Given the description of an element on the screen output the (x, y) to click on. 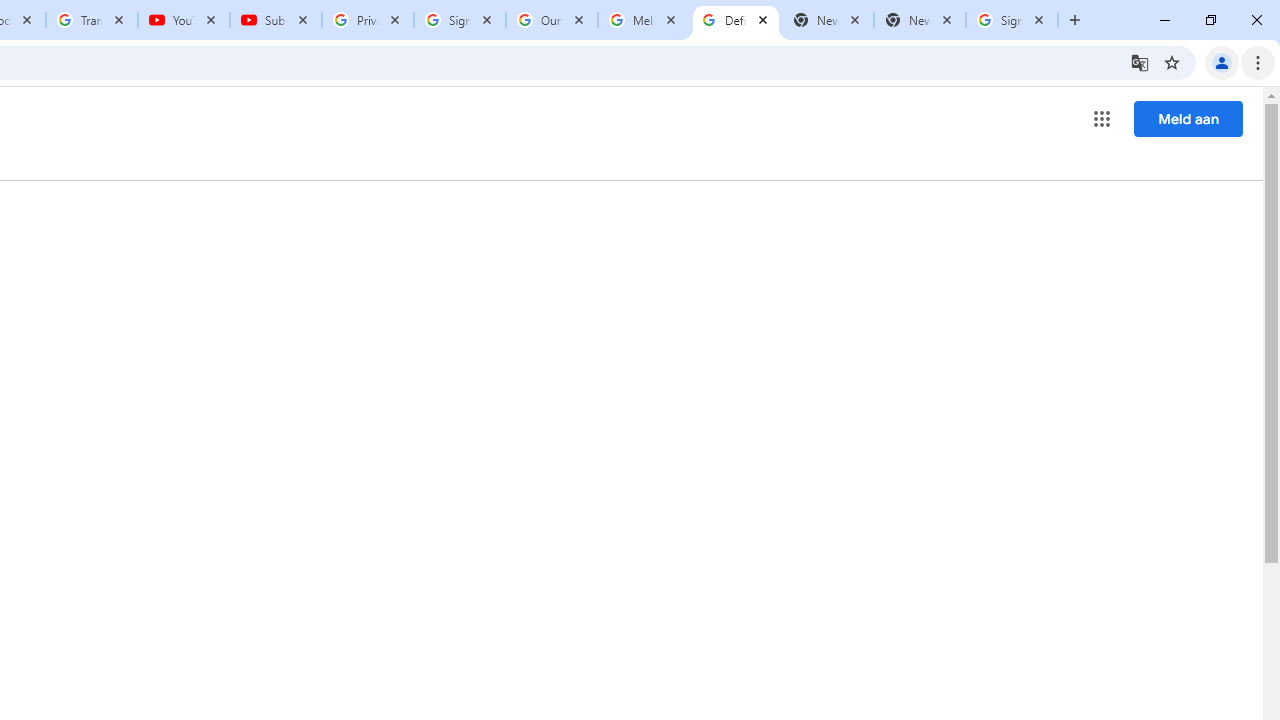
New Tab (920, 20)
Google-programme (1101, 118)
